Given the description of an element on the screen output the (x, y) to click on. 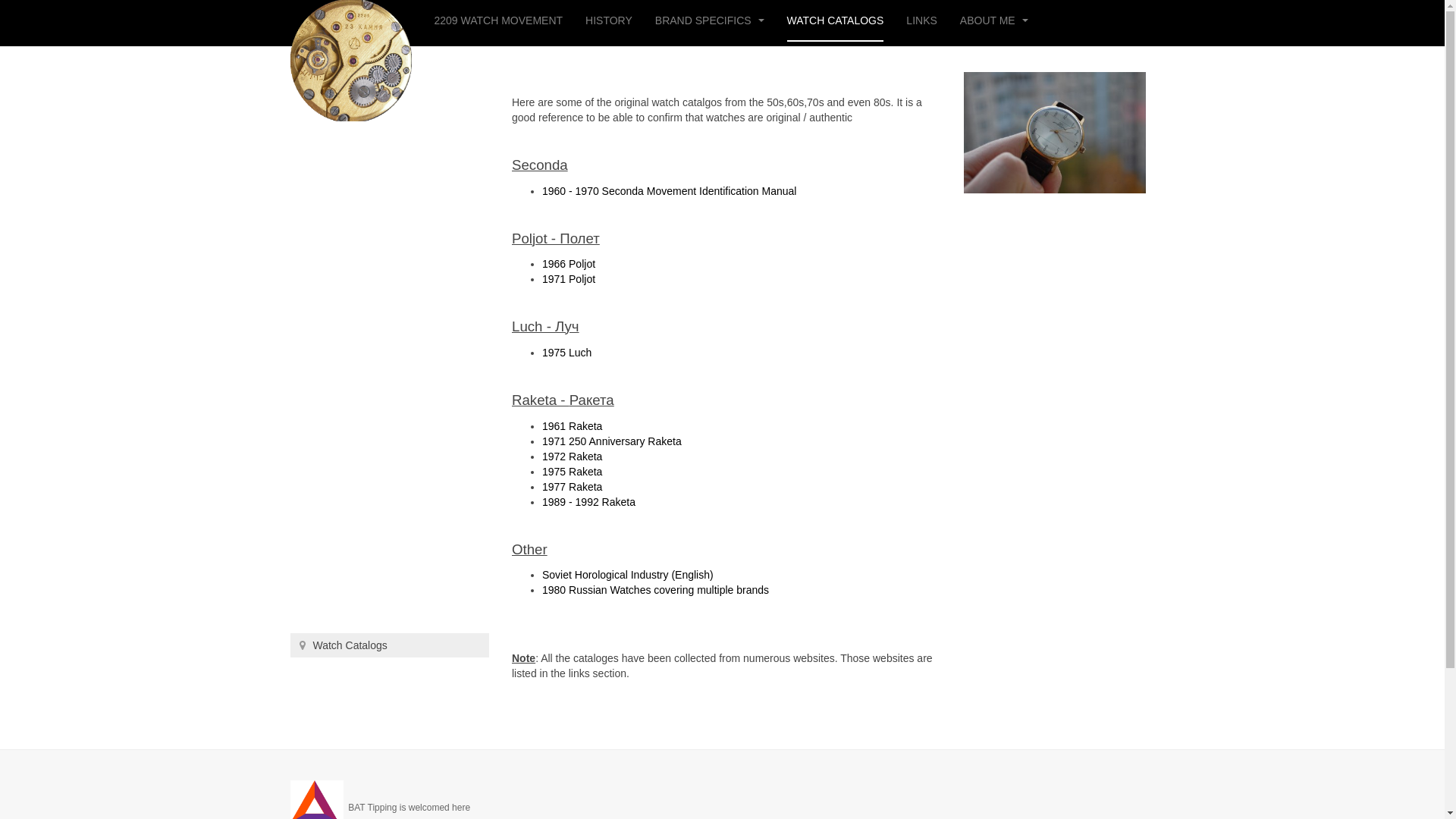
1980 Russian Watches covering multiple brands Element type: text (655, 589)
2209 Element type: hover (350, 20)
1989 - 1992 Raketa Element type: text (588, 501)
Soviet Horological Industry (English) Element type: text (627, 574)
1961 Raketa Element type: text (572, 426)
1972 Raketa Element type: text (572, 456)
2209 WATCH MOVEMENT Element type: text (497, 20)
1975 Raketa Element type: text (572, 471)
WATCH CATALOGS Element type: text (835, 20)
BRAND SPECIFICS Element type: text (709, 20)
1960 - 1970 Seconda Movement Identification Manual Element type: text (669, 191)
1966 Poljot Element type: text (568, 263)
1977 Raketa Element type: text (572, 486)
1971 Poljot Element type: text (568, 279)
HISTORY Element type: text (608, 20)
You are here:  Element type: hover (301, 645)
Advertisement Element type: hover (389, 374)
ABOUT ME Element type: text (994, 20)
LINKS Element type: text (921, 20)
1971 250 Anniversary Raketa Element type: text (611, 441)
1975 Luch Element type: text (566, 352)
